Given the description of an element on the screen output the (x, y) to click on. 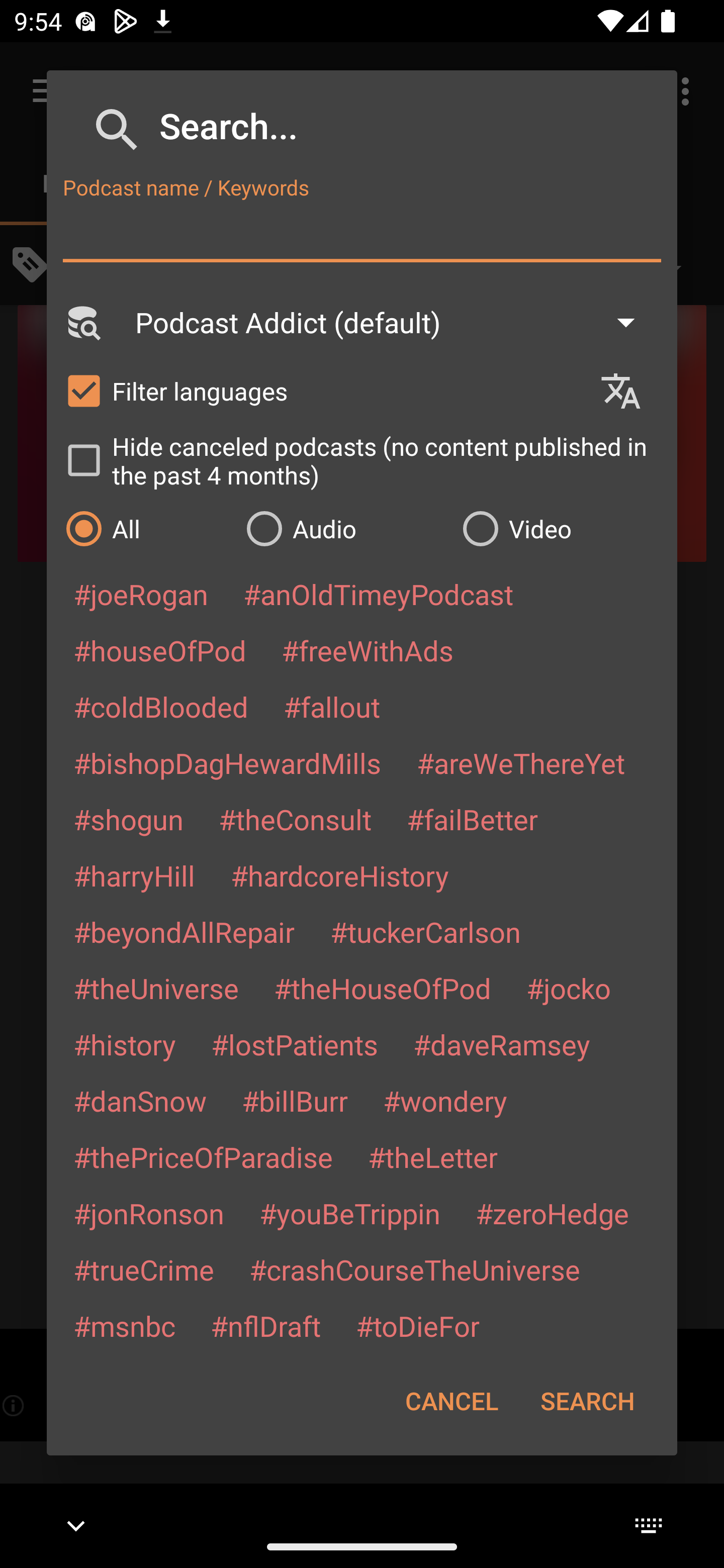
Podcast name / Keywords (361, 234)
Search Engine (82, 322)
Podcast Addict (default) (394, 322)
Languages selection (629, 390)
Filter languages (322, 390)
All (145, 528)
Audio (344, 528)
Video (560, 528)
#joeRogan (140, 594)
#anOldTimeyPodcast (378, 594)
#houseOfPod (159, 650)
#freeWithAds (367, 650)
#coldBlooded (160, 705)
#fallout (331, 705)
#bishopDagHewardMills (227, 762)
#areWeThereYet (521, 762)
#shogun (128, 818)
#theConsult (294, 818)
#failBetter (471, 818)
#harryHill (134, 875)
#hardcoreHistory (339, 875)
#beyondAllRepair (184, 931)
#tuckerCarlson (425, 931)
#theUniverse (155, 987)
#theHouseOfPod (381, 987)
#jocko (568, 987)
#history (124, 1044)
#lostPatients (294, 1044)
#daveRamsey (501, 1044)
#danSnow (139, 1100)
#billBurr (294, 1100)
#wondery (444, 1100)
#thePriceOfParadise (203, 1157)
#theLetter (432, 1157)
#jonRonson (148, 1213)
#youBeTrippin (349, 1213)
#zeroHedge (552, 1213)
#trueCrime (143, 1268)
#crashCourseTheUniverse (414, 1268)
#msnbc (124, 1325)
#nflDraft (265, 1325)
#toDieFor (417, 1325)
CANCEL (451, 1400)
SEARCH (587, 1400)
